Given the description of an element on the screen output the (x, y) to click on. 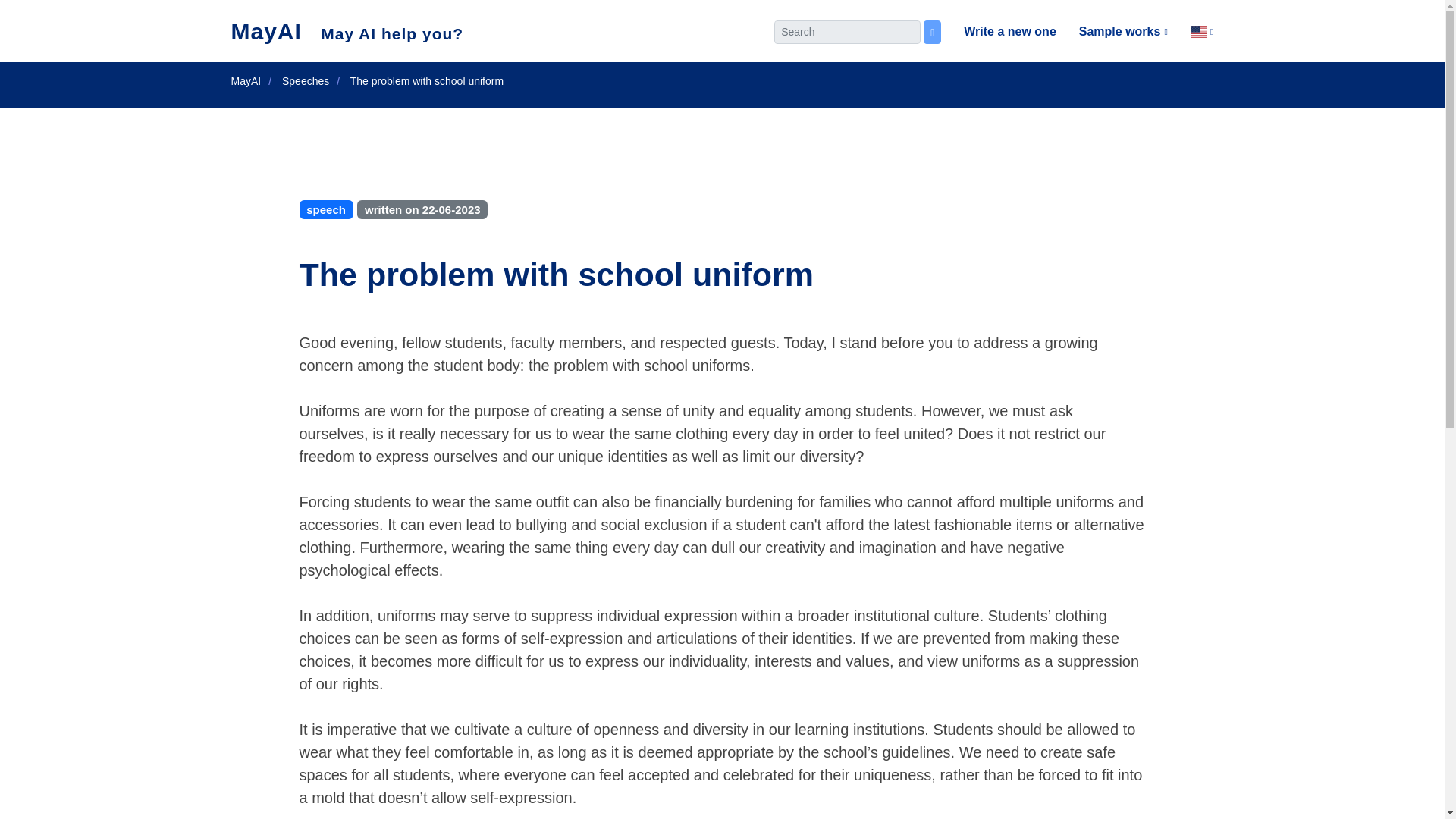
Speeches (305, 80)
MayAI May AI help you? (346, 31)
Sample works (1112, 31)
Write a new one (998, 31)
Write a new one (998, 31)
MayAI (245, 80)
